Given the description of an element on the screen output the (x, y) to click on. 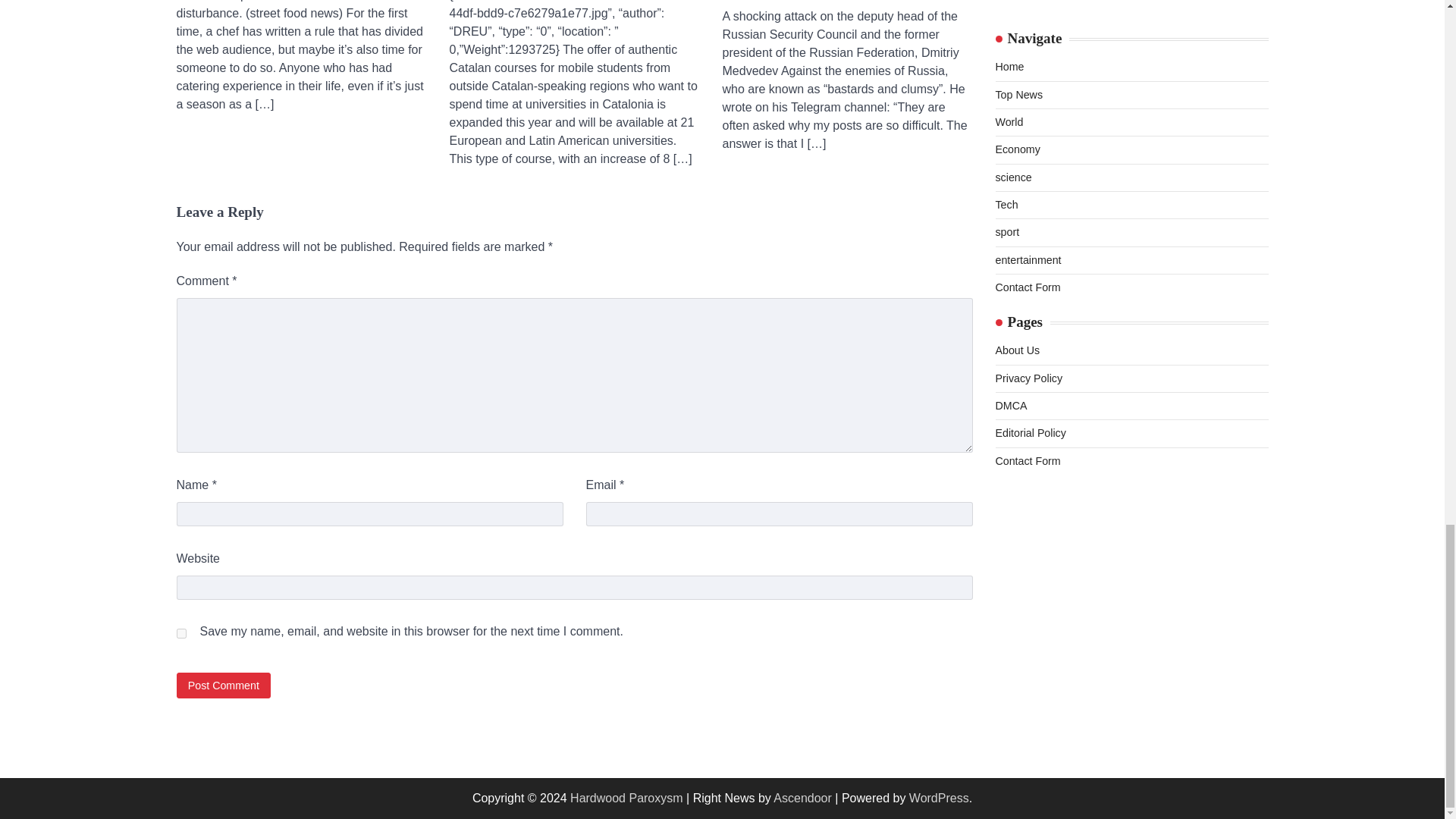
Post Comment (223, 684)
yes (181, 633)
Post Comment (223, 684)
